Given the description of an element on the screen output the (x, y) to click on. 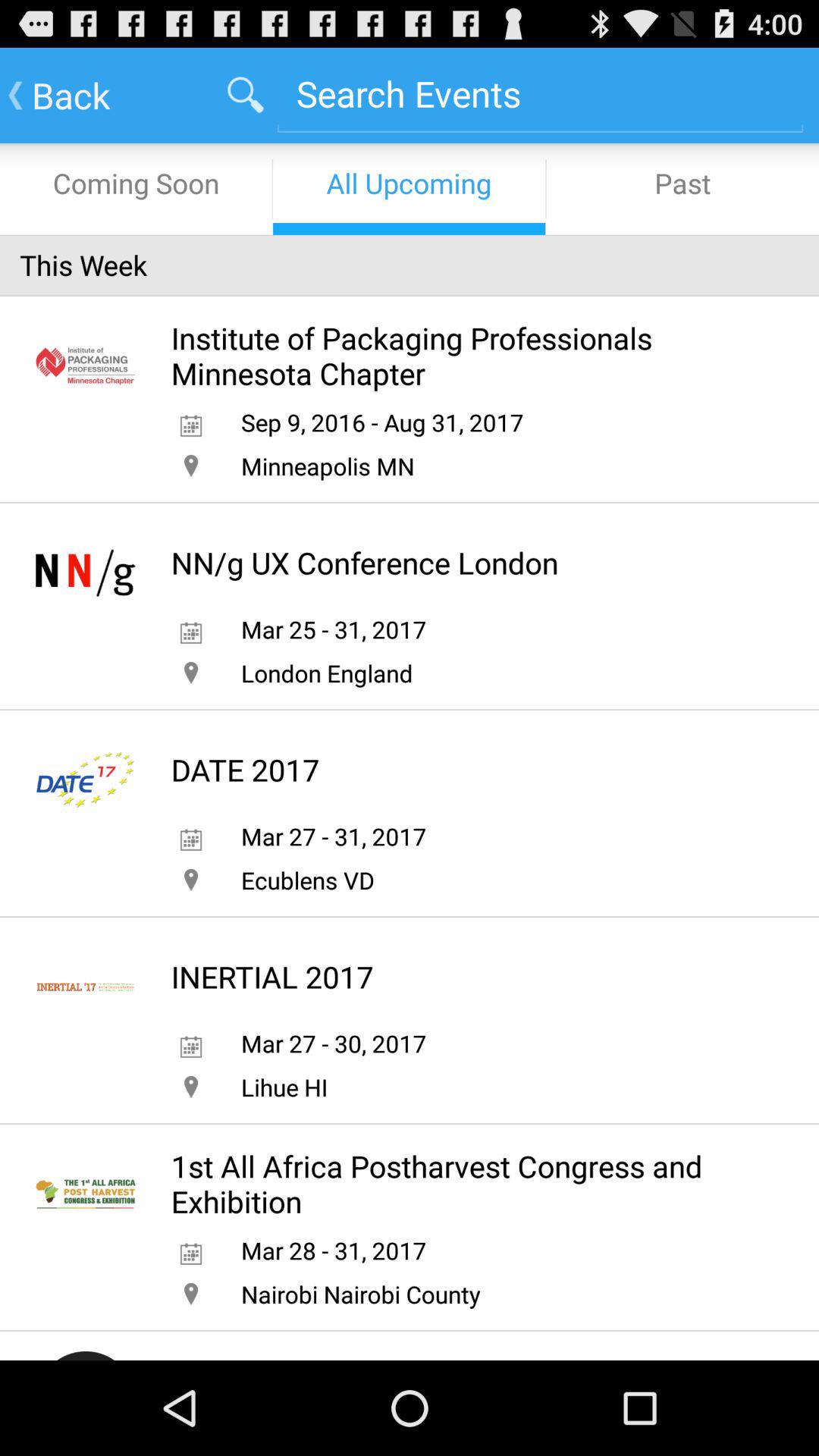
launch minneapolis mn item (327, 465)
